Given the description of an element on the screen output the (x, y) to click on. 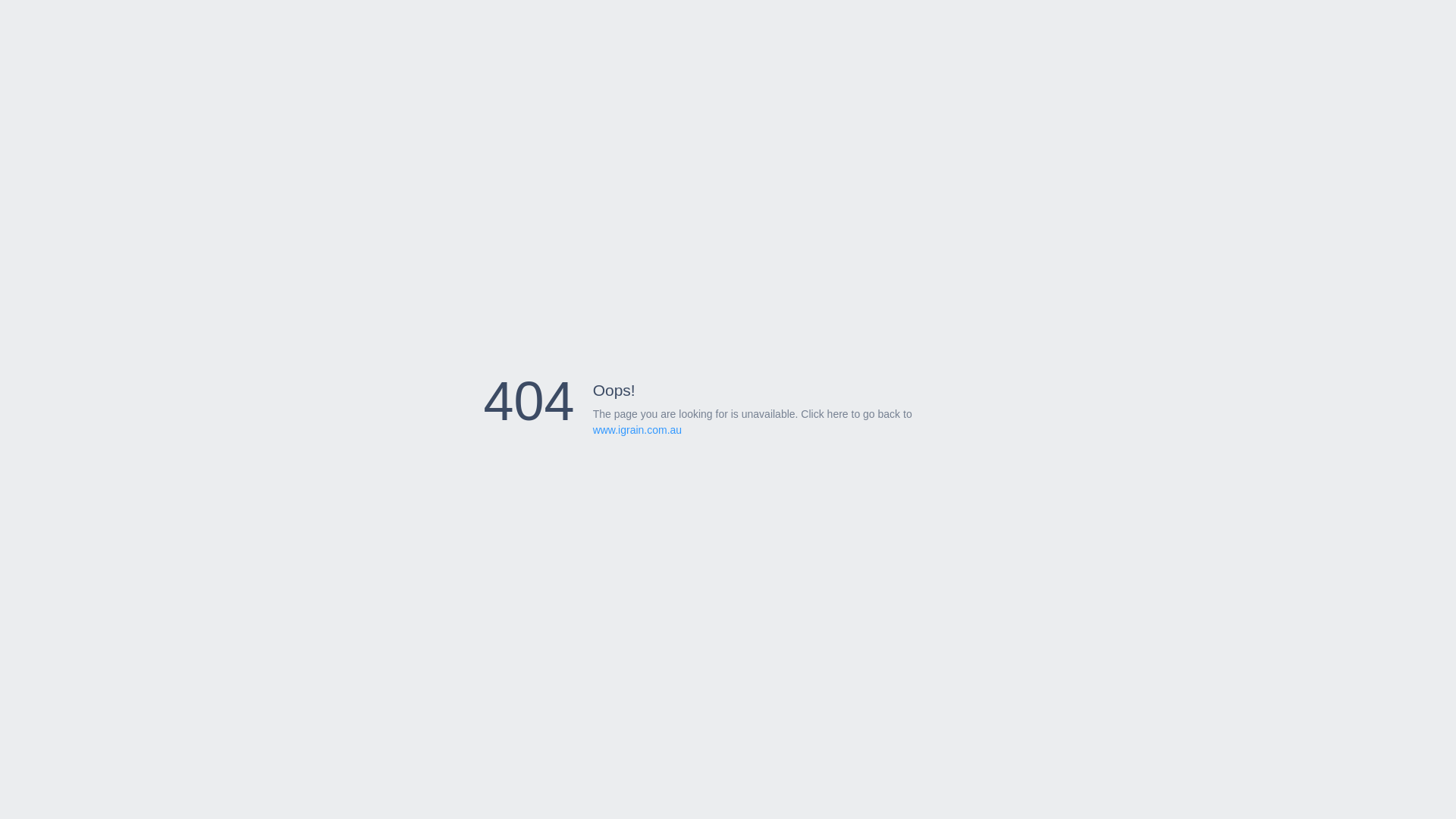
www.igrain.com.au Element type: text (637, 429)
